Given the description of an element on the screen output the (x, y) to click on. 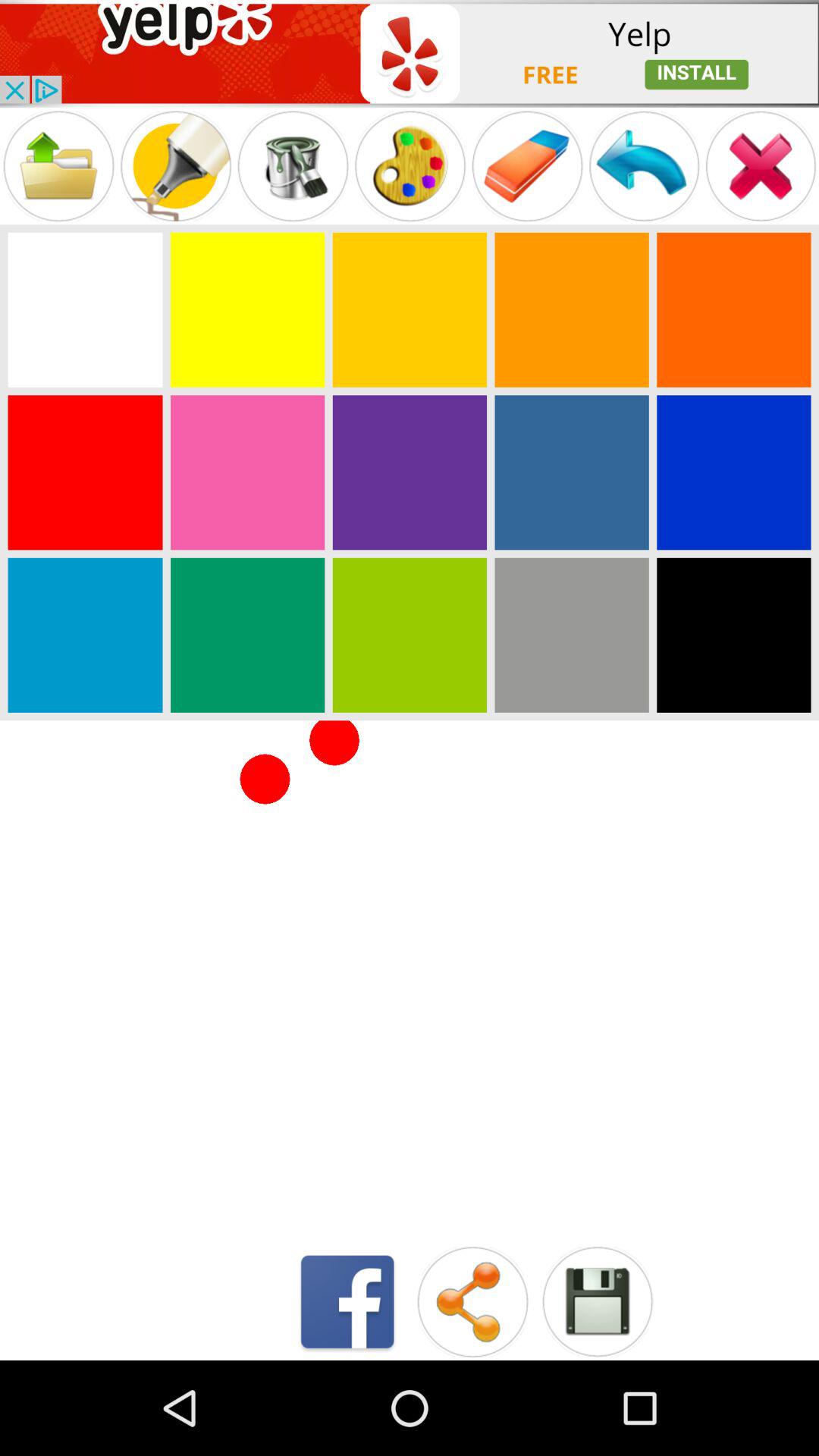
picks color (247, 309)
